Given the description of an element on the screen output the (x, y) to click on. 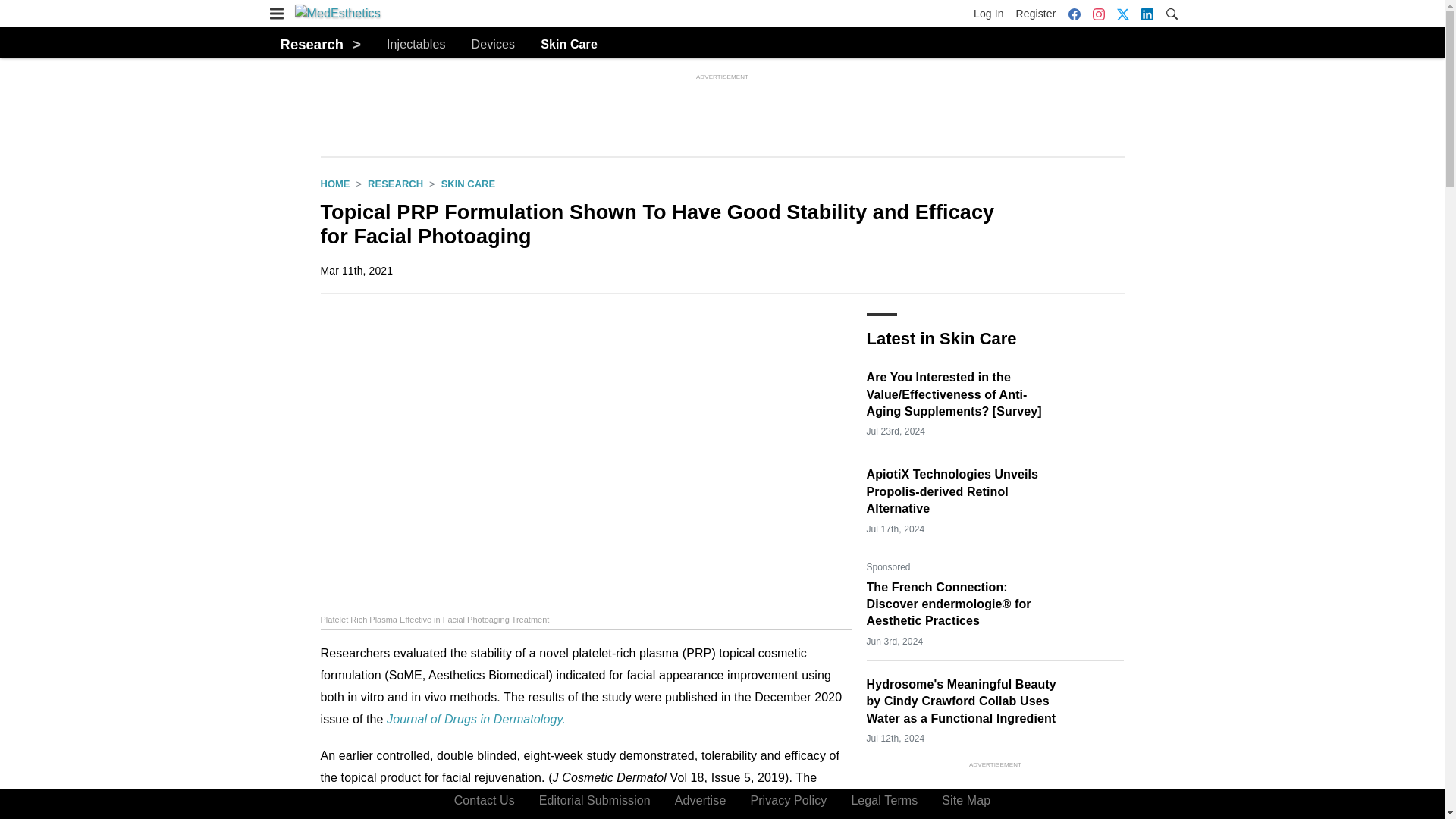
Register (1036, 13)
Facebook icon (1073, 13)
Home (334, 183)
LinkedIn icon (1146, 14)
Log In (992, 13)
HOME (334, 183)
Devices (493, 44)
Research (312, 44)
SKIN CARE (468, 183)
Injectables (416, 44)
Skin Care (568, 44)
Instagram icon (1097, 14)
LinkedIn icon (1146, 13)
Research (395, 183)
Instagram icon (1097, 13)
